Given the description of an element on the screen output the (x, y) to click on. 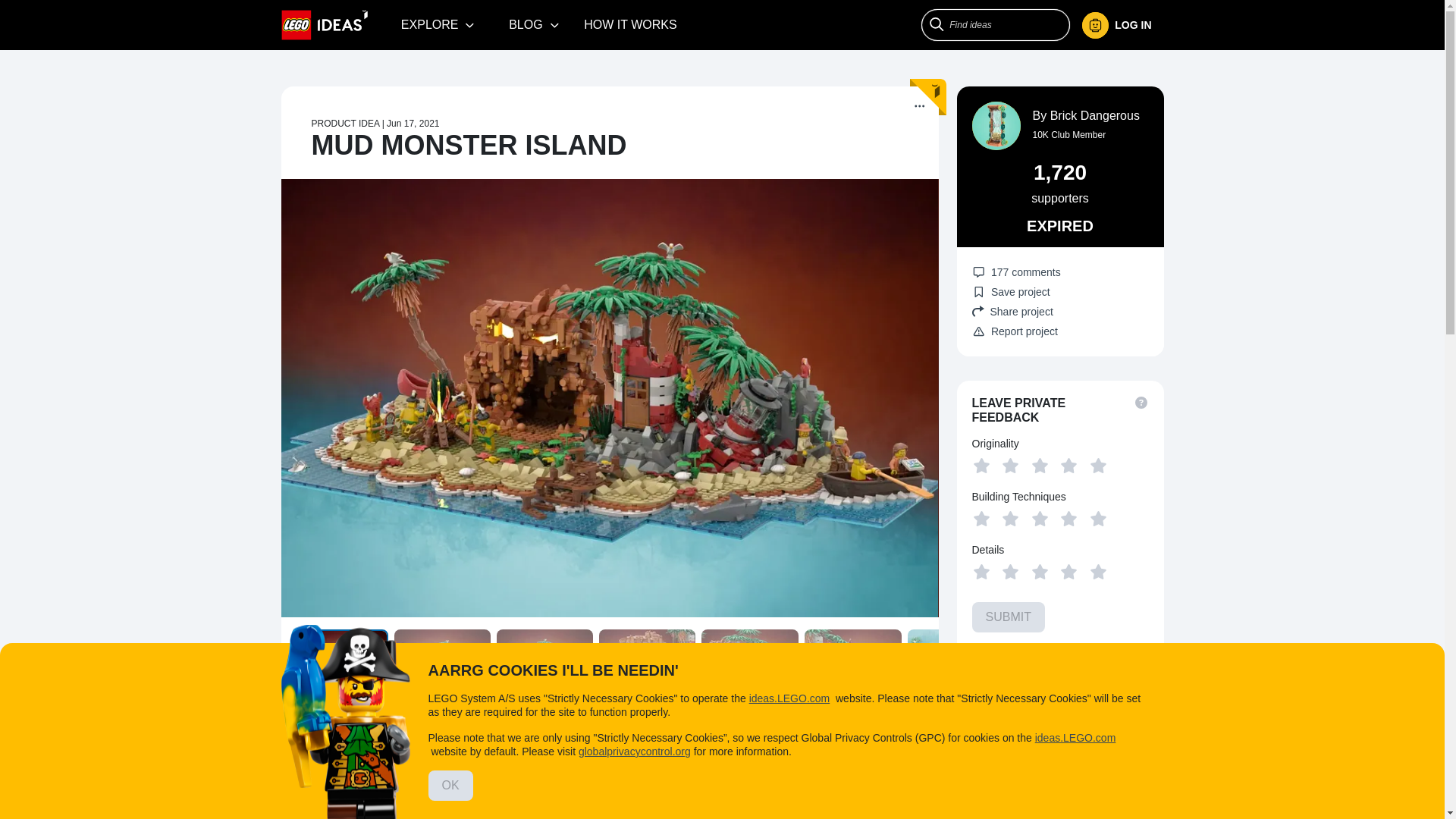
UPDATES 0 (422, 731)
Share project (1060, 311)
STATISTICS (798, 731)
COMMENTS 177 (520, 731)
HOW IT WORKS (630, 24)
How It Works (630, 24)
Brick Dangerous (1094, 115)
LOG IN (1122, 25)
Save project (1010, 291)
Me (1116, 25)
BLOG (534, 24)
OFFICIAL LEGO COMMENTS 3 (667, 731)
DESCRIPTION (331, 732)
